Given the description of an element on the screen output the (x, y) to click on. 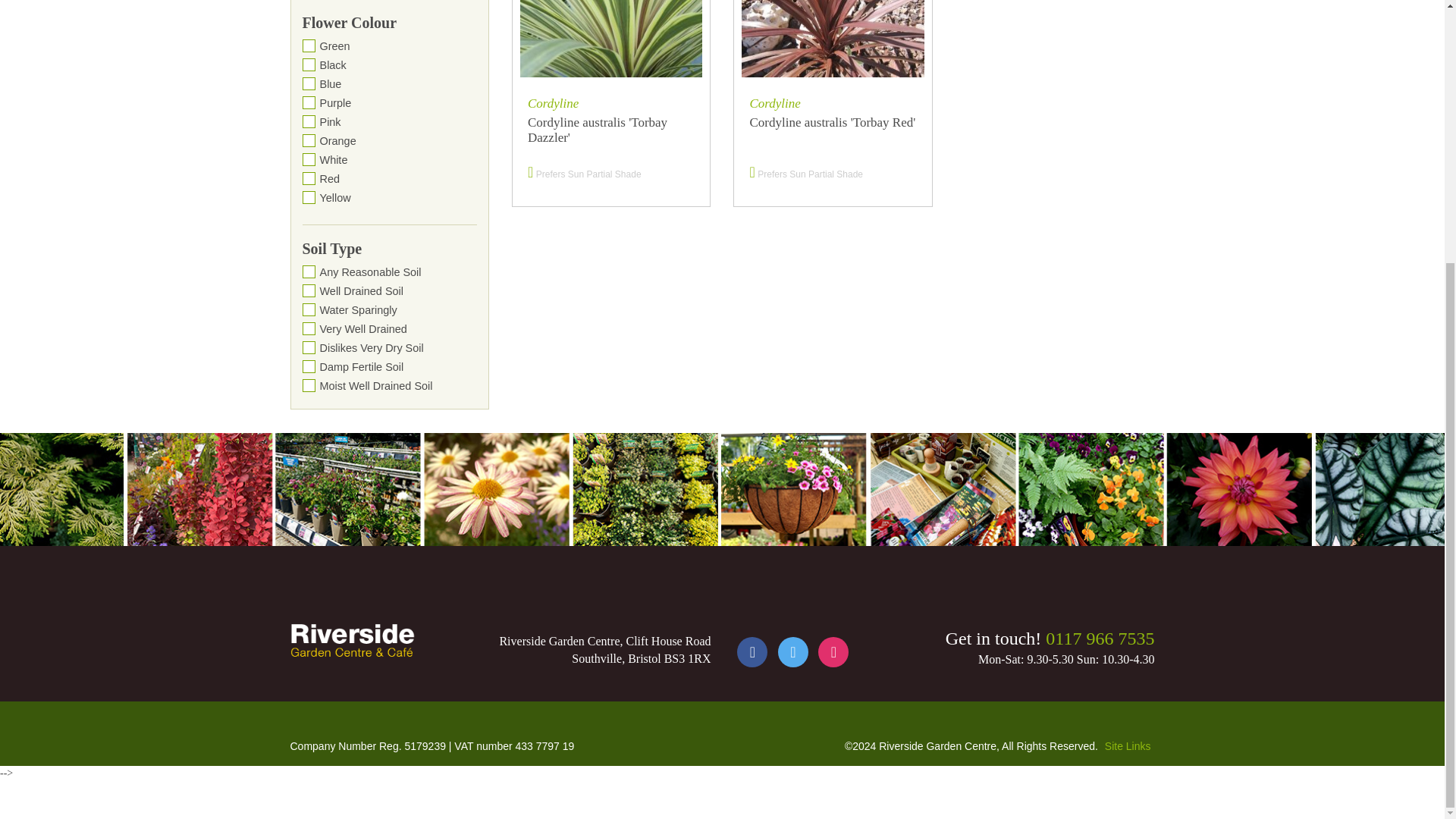
Cordyline australis 'Torbay Dazzler' (610, 134)
Cordyline australis 'Torbay Red' (832, 134)
0117 966 7535 (1099, 638)
Site Links (1128, 746)
